Given the description of an element on the screen output the (x, y) to click on. 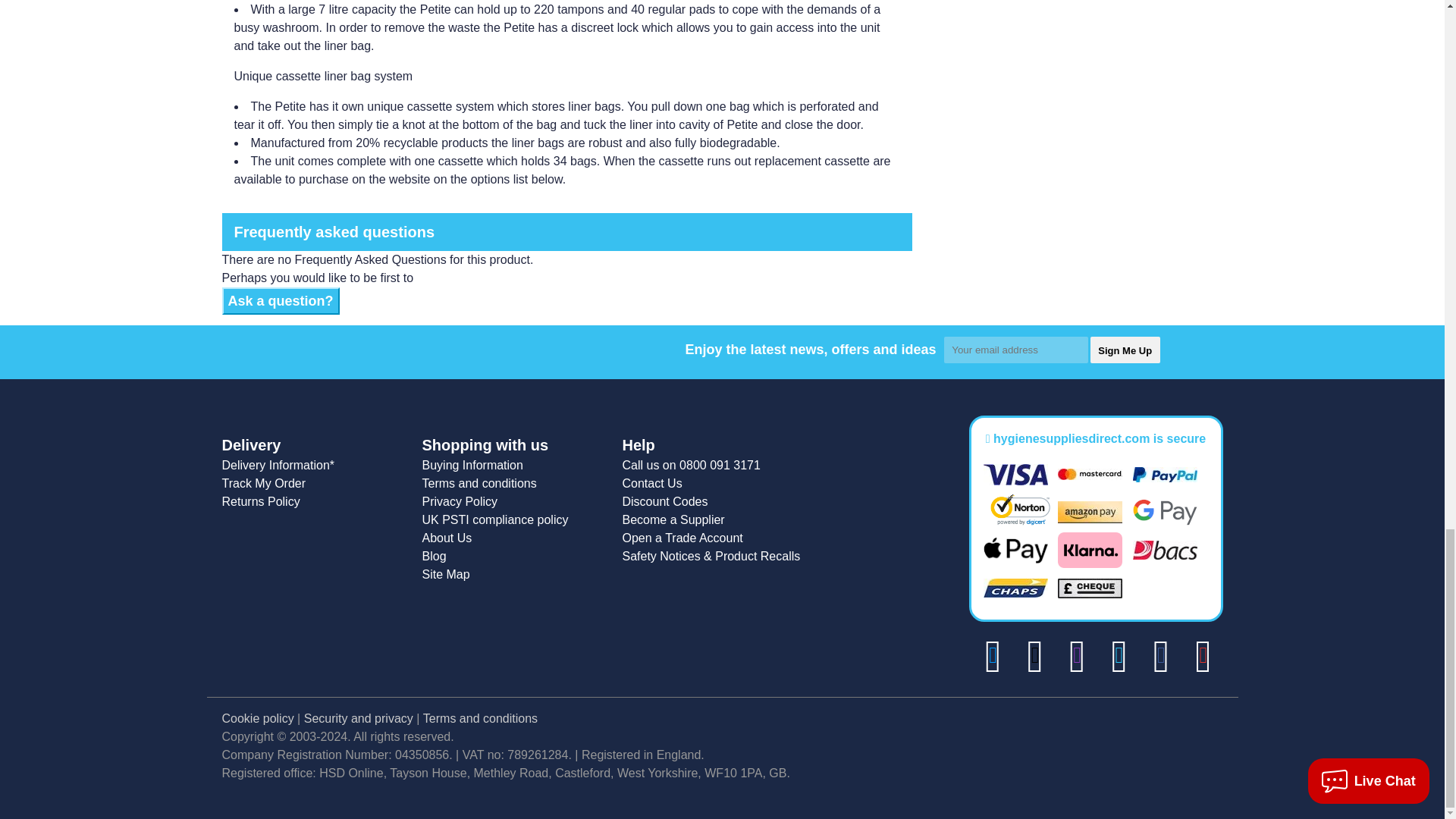
Sign Me Up (1125, 349)
